Given the description of an element on the screen output the (x, y) to click on. 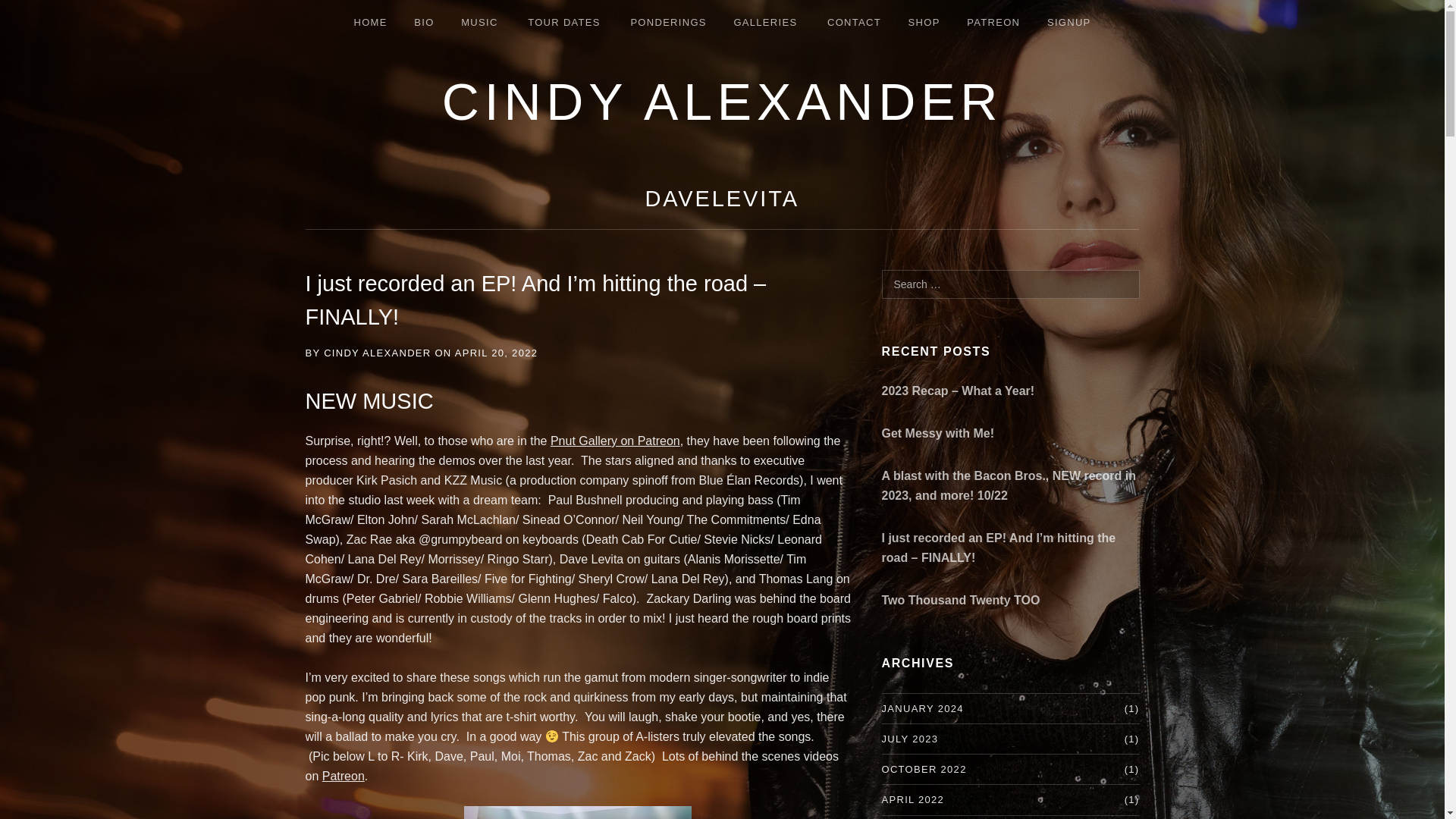
APRIL 20, 2022 (496, 352)
BIO (423, 22)
CONTACT (854, 22)
DAVELEVITA (722, 198)
GALLERIES (766, 22)
PONDERINGS (667, 22)
SIGNUP (1069, 22)
CINDY ALEXANDER (722, 101)
Patreon (343, 775)
SHOP (924, 22)
TOUR DATES (565, 22)
HOME (369, 22)
PATREON (993, 22)
Pnut Gallery on Patreon (614, 440)
CINDY ALEXANDER (376, 352)
